Given the description of an element on the screen output the (x, y) to click on. 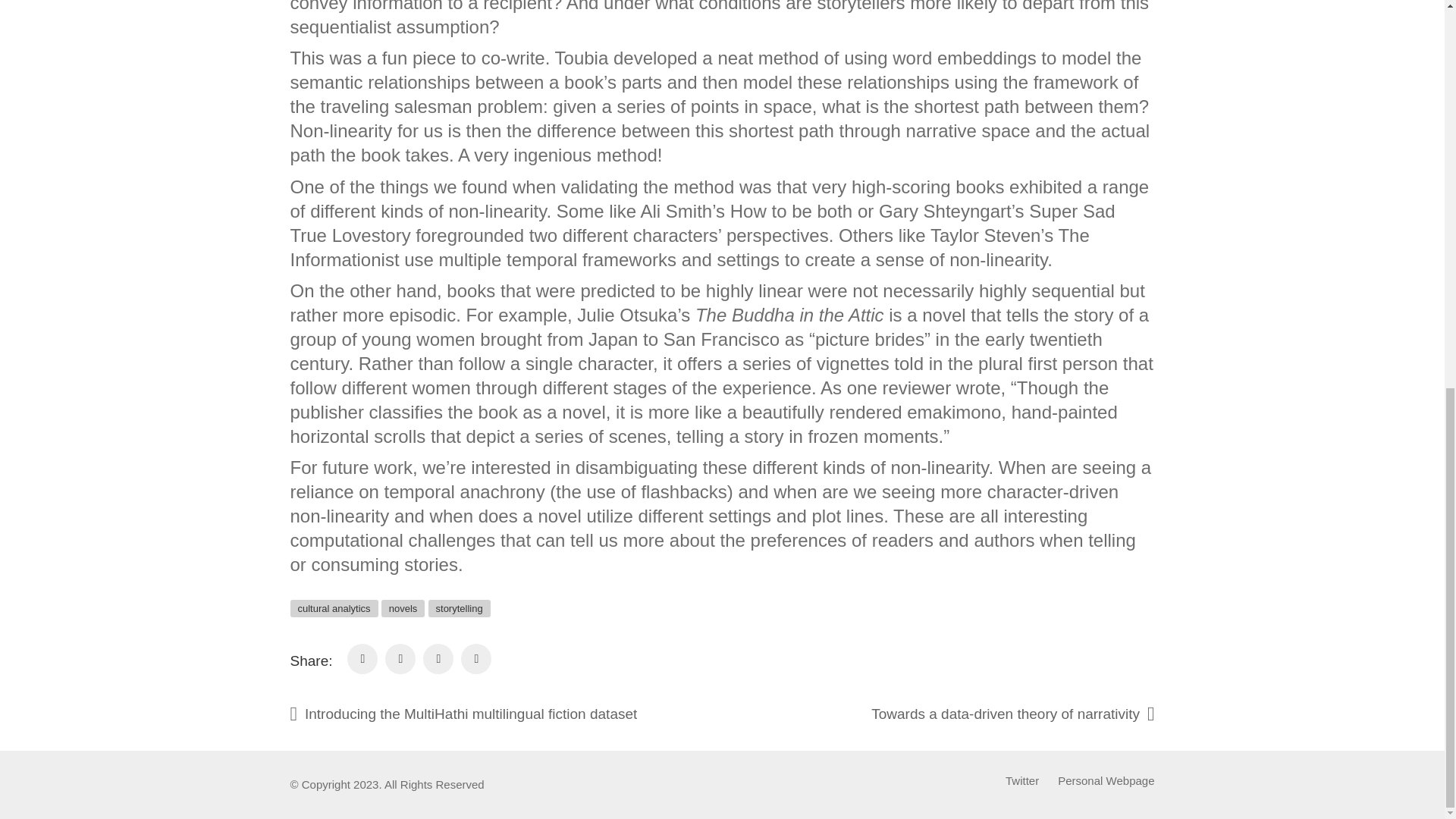
storytelling (459, 608)
Introducing the MultiHathi multilingual fiction dataset (509, 714)
Personal Webpage (1106, 780)
Personal Webpage (1106, 780)
Twitter (1022, 780)
novels (403, 608)
Towards a data-driven theory of narrativity (965, 714)
Twitter (1022, 780)
cultural analytics (333, 608)
